Given the description of an element on the screen output the (x, y) to click on. 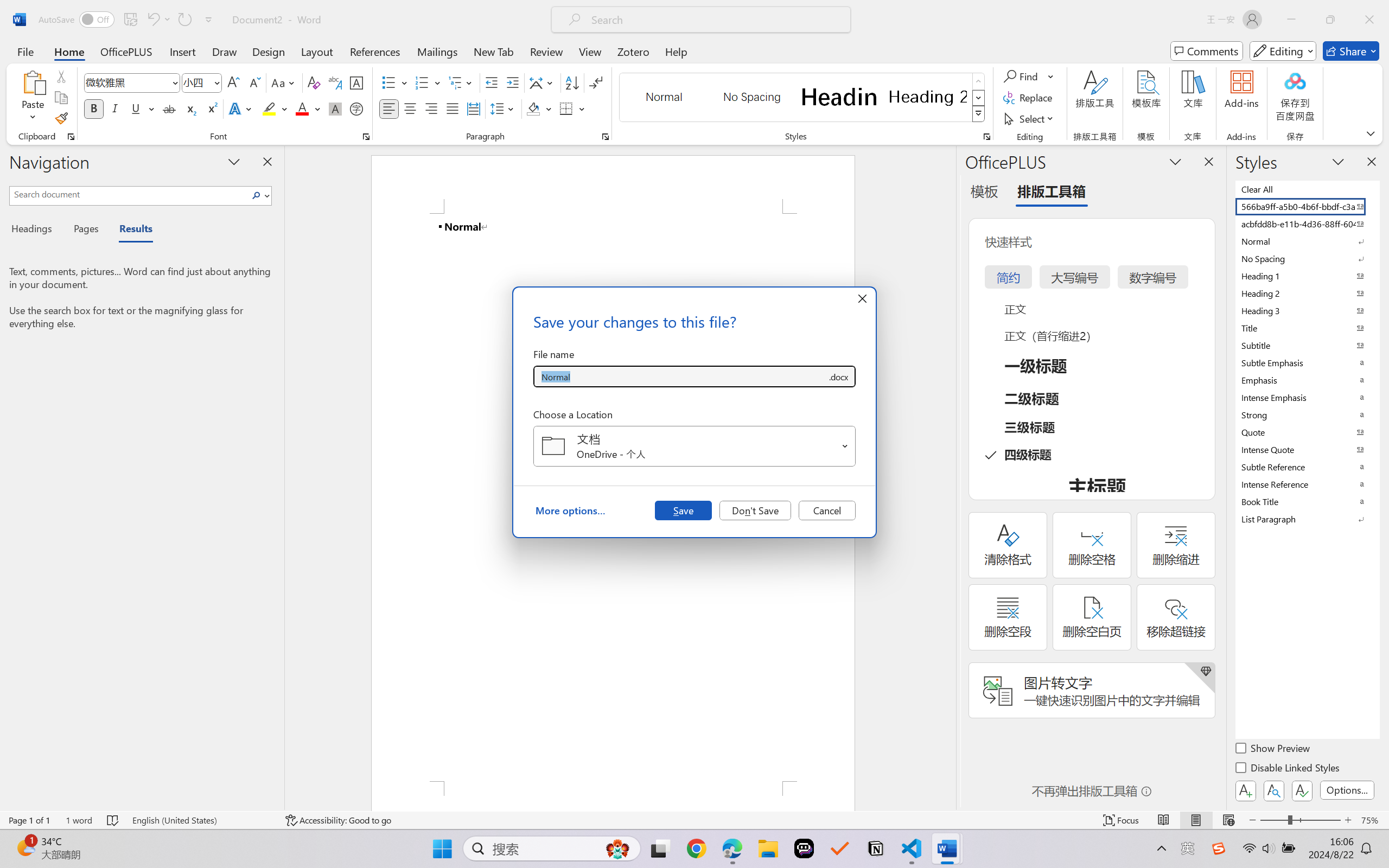
Font (132, 82)
Close (1369, 19)
Clear Formatting (313, 82)
Quote (1306, 431)
Layout (316, 51)
Save (682, 509)
AutomationID: DynamicSearchBoxGleamImage (617, 848)
Headings (35, 229)
Show/Hide Editing Marks (595, 82)
Character Shading (334, 108)
Don't Save (755, 509)
Repeat Style (184, 19)
